Given the description of an element on the screen output the (x, y) to click on. 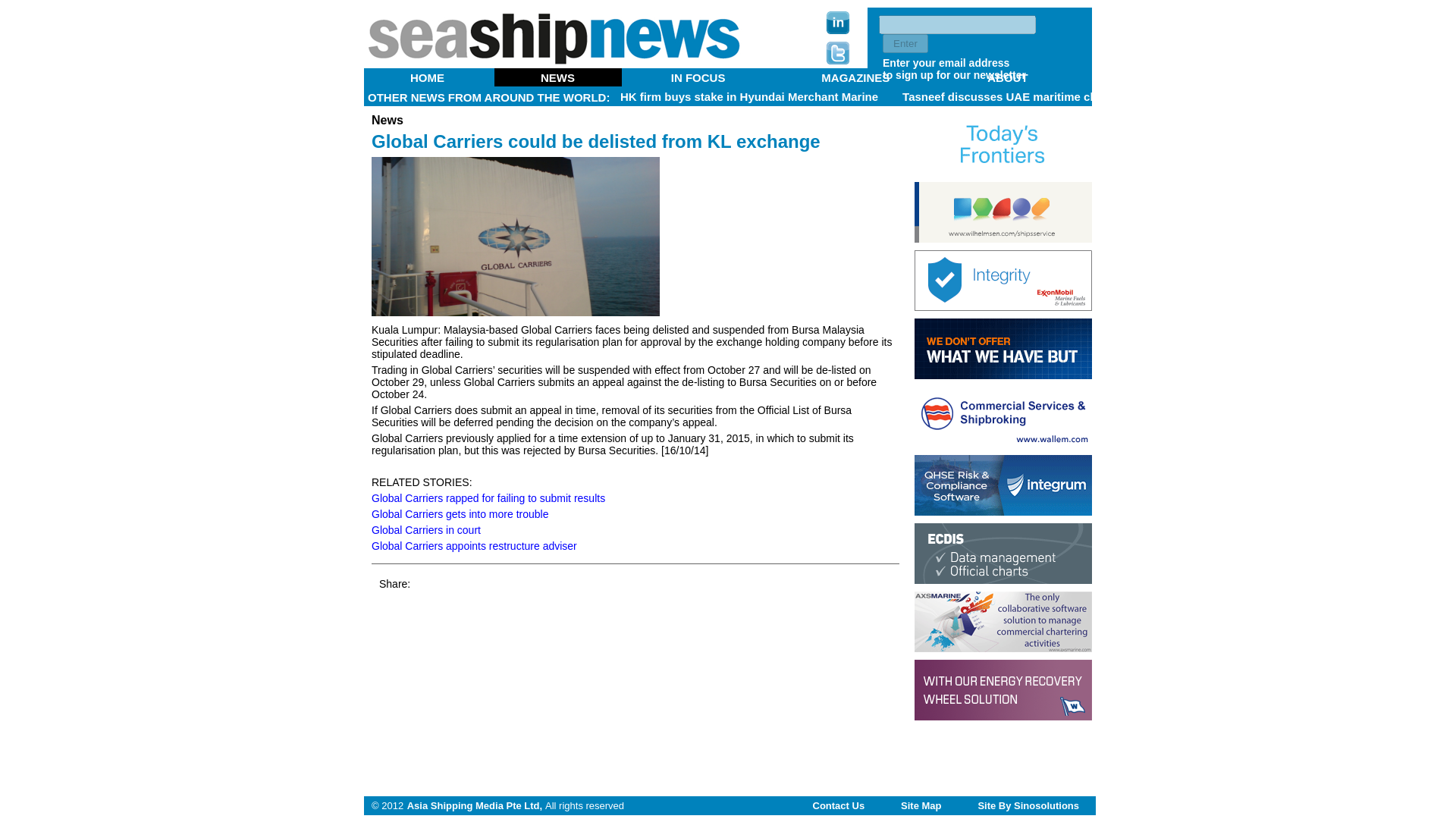
MAGAZINES (855, 76)
Asia Shipping Media Pte Ltd, (474, 805)
Global Carriers in court (425, 530)
HOME (428, 76)
IN FOCUS (698, 76)
NEWS (558, 76)
ABOUT US (695, 83)
Enter (905, 43)
Global Carriers appoints restructure adviser (473, 545)
Enter (905, 43)
Global Carriers gets into more trouble (459, 513)
Global Carriers rapped for failing to submit results (488, 498)
